Given the description of an element on the screen output the (x, y) to click on. 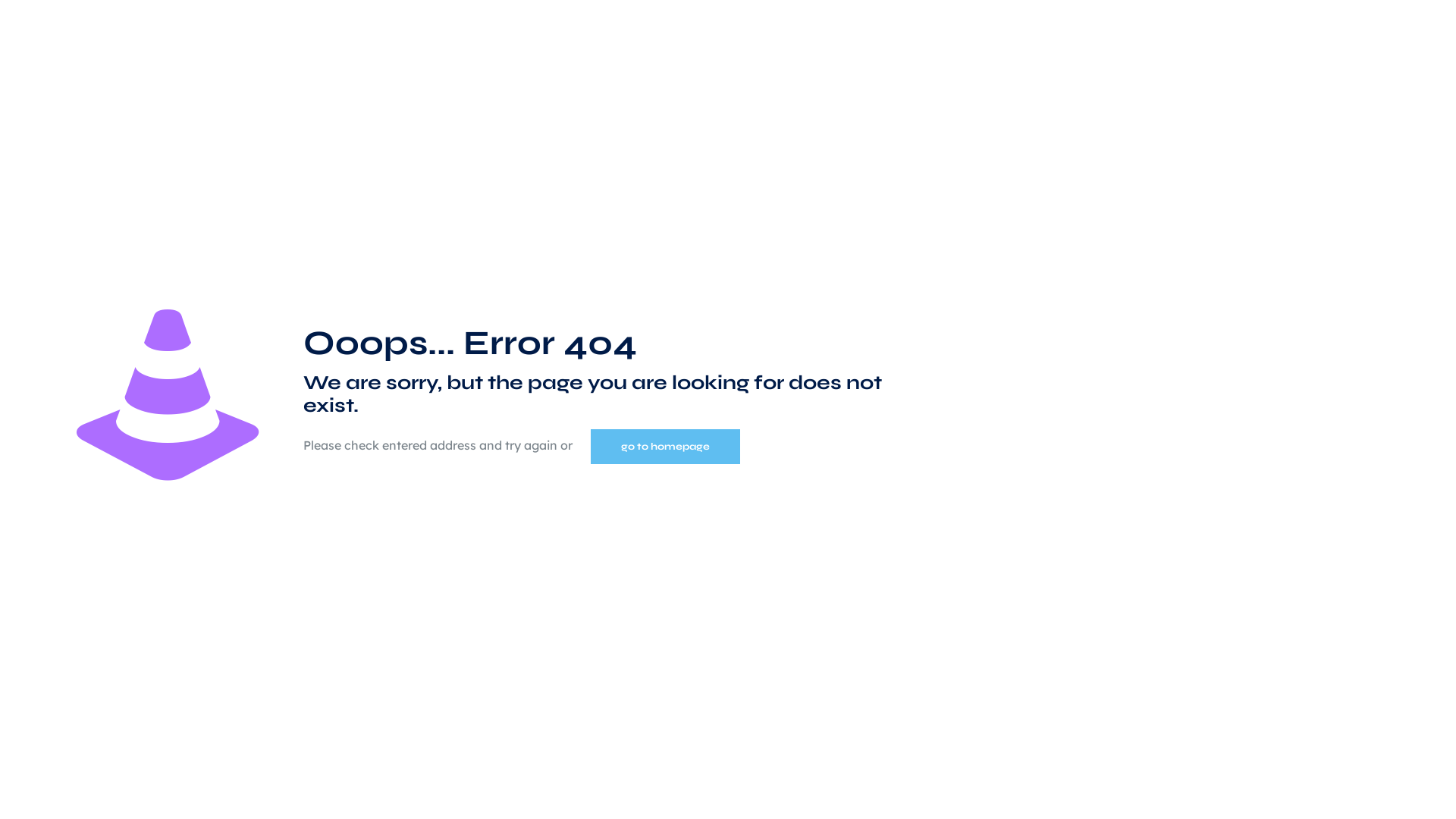
go to homepage Element type: text (665, 446)
